Given the description of an element on the screen output the (x, y) to click on. 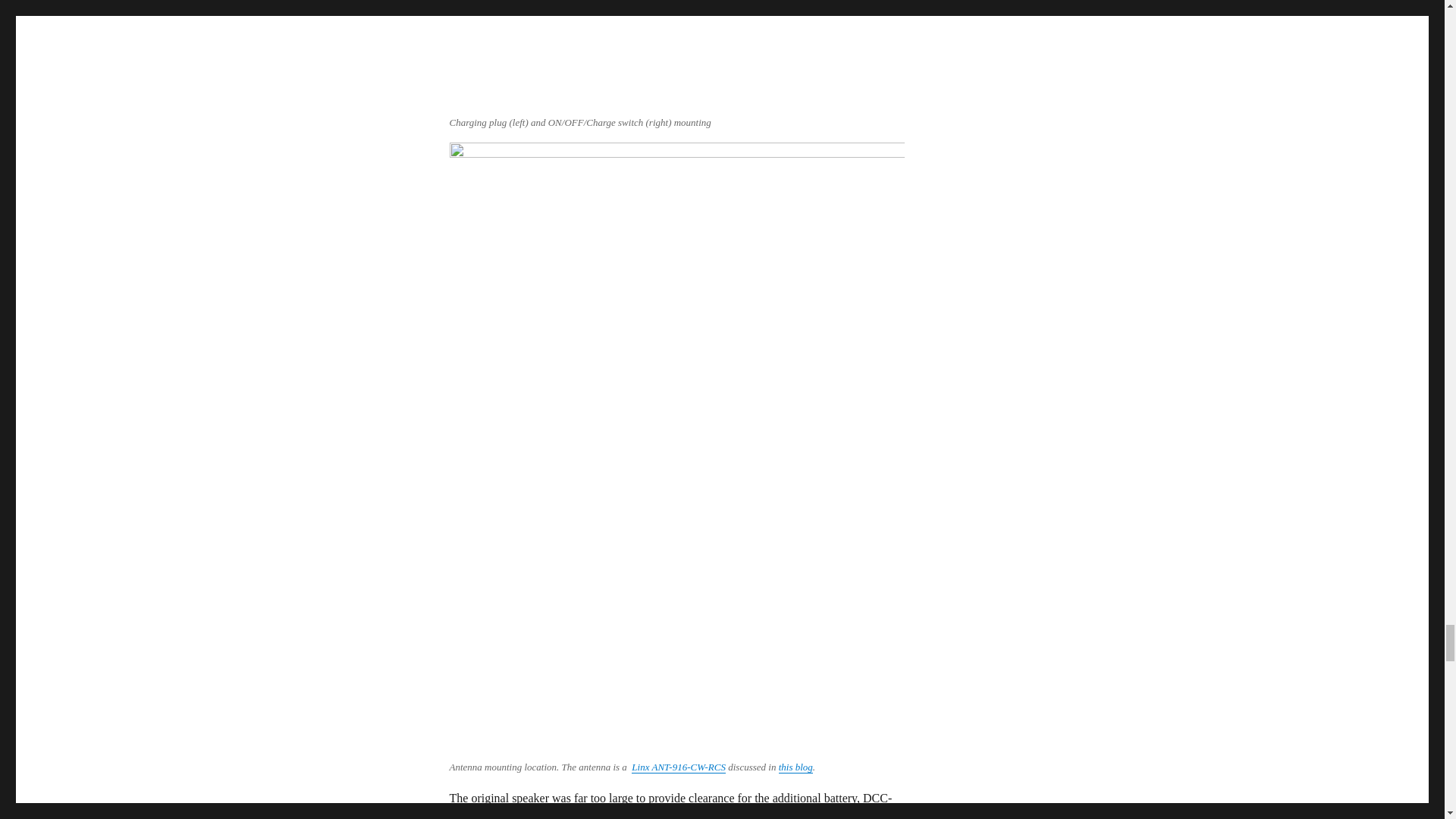
Linx ANT-916-CW-RCS (678, 767)
this blog (795, 767)
